Given the description of an element on the screen output the (x, y) to click on. 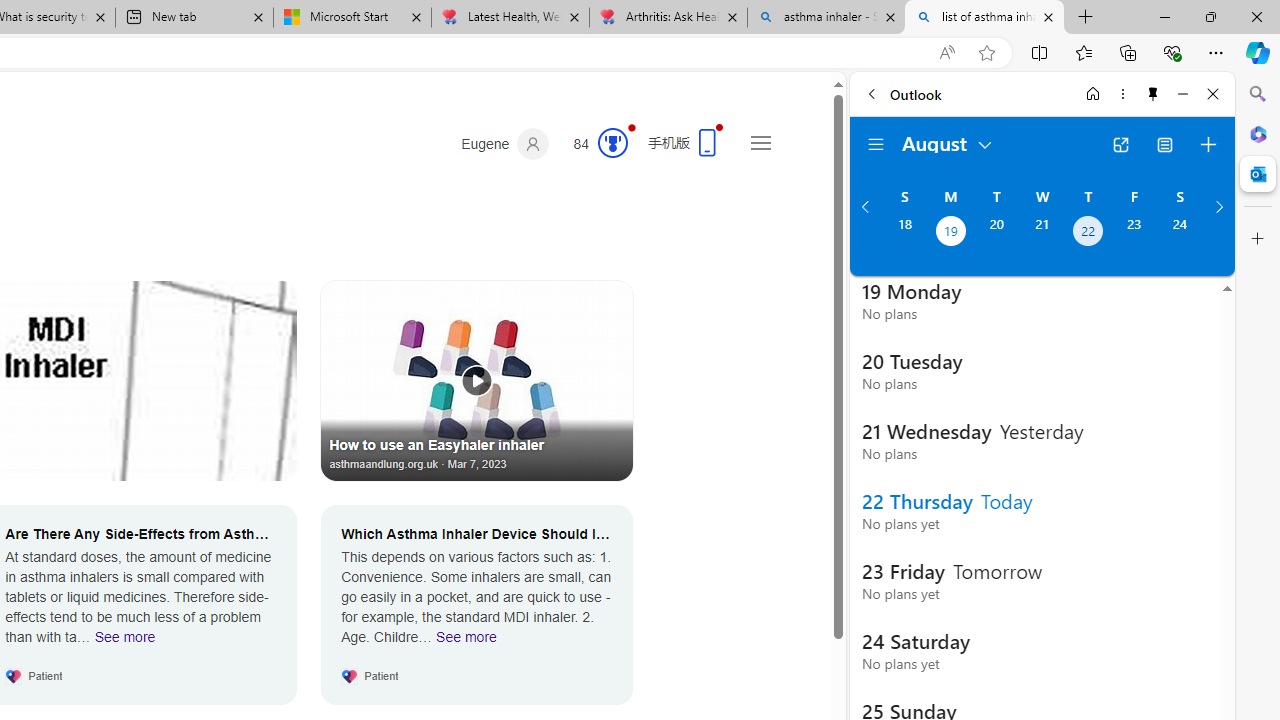
Sunday, August 18, 2024.  (904, 233)
Saturday, August 24, 2024.  (1180, 233)
